Given the description of an element on the screen output the (x, y) to click on. 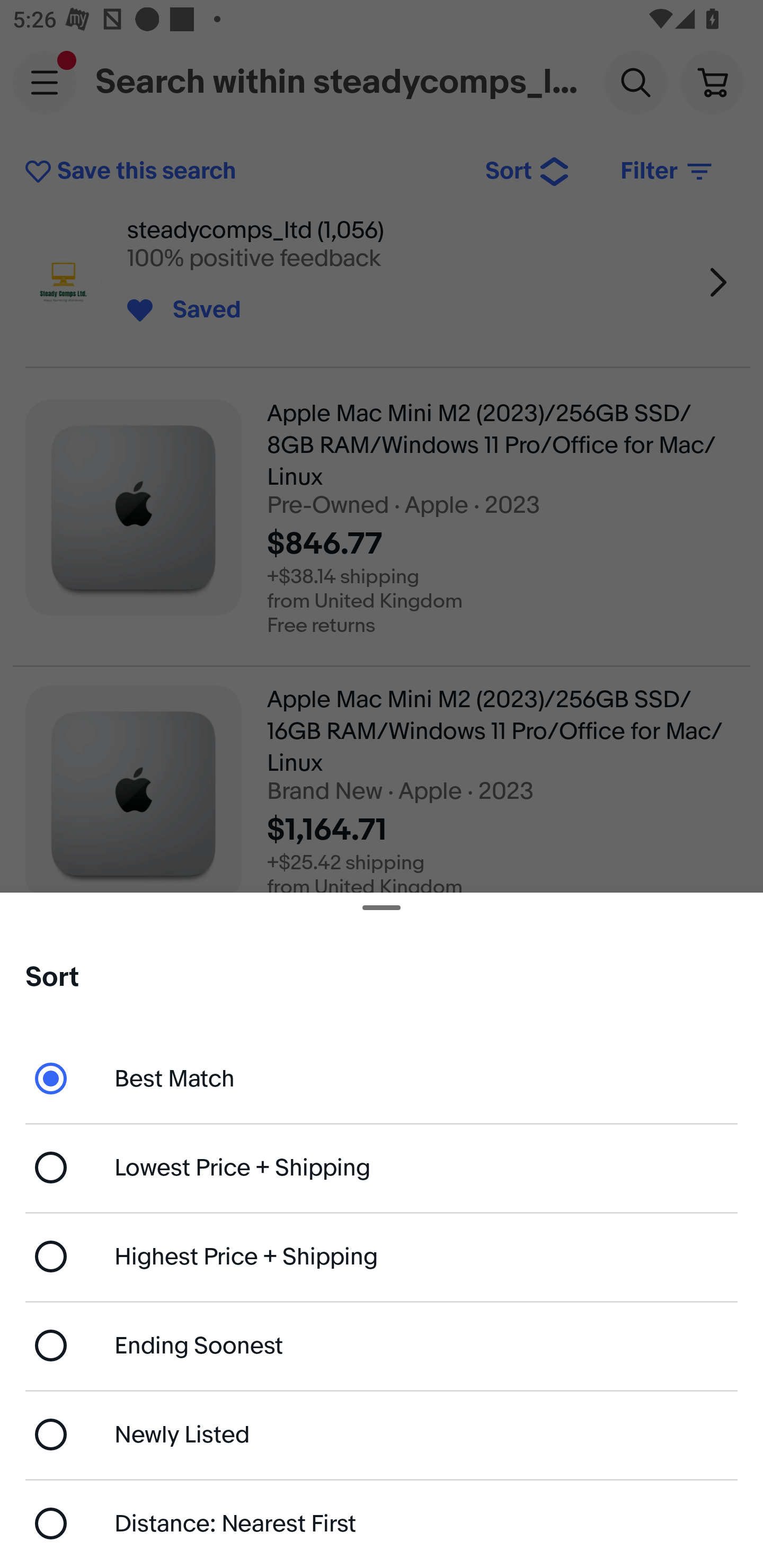
Best Match - currently selected Best Match (381, 1077)
Lowest Price + Shipping (381, 1167)
Highest Price + Shipping (381, 1256)
Ending Soonest (381, 1345)
Newly Listed (381, 1433)
Distance: Nearest First (381, 1523)
